Given the description of an element on the screen output the (x, y) to click on. 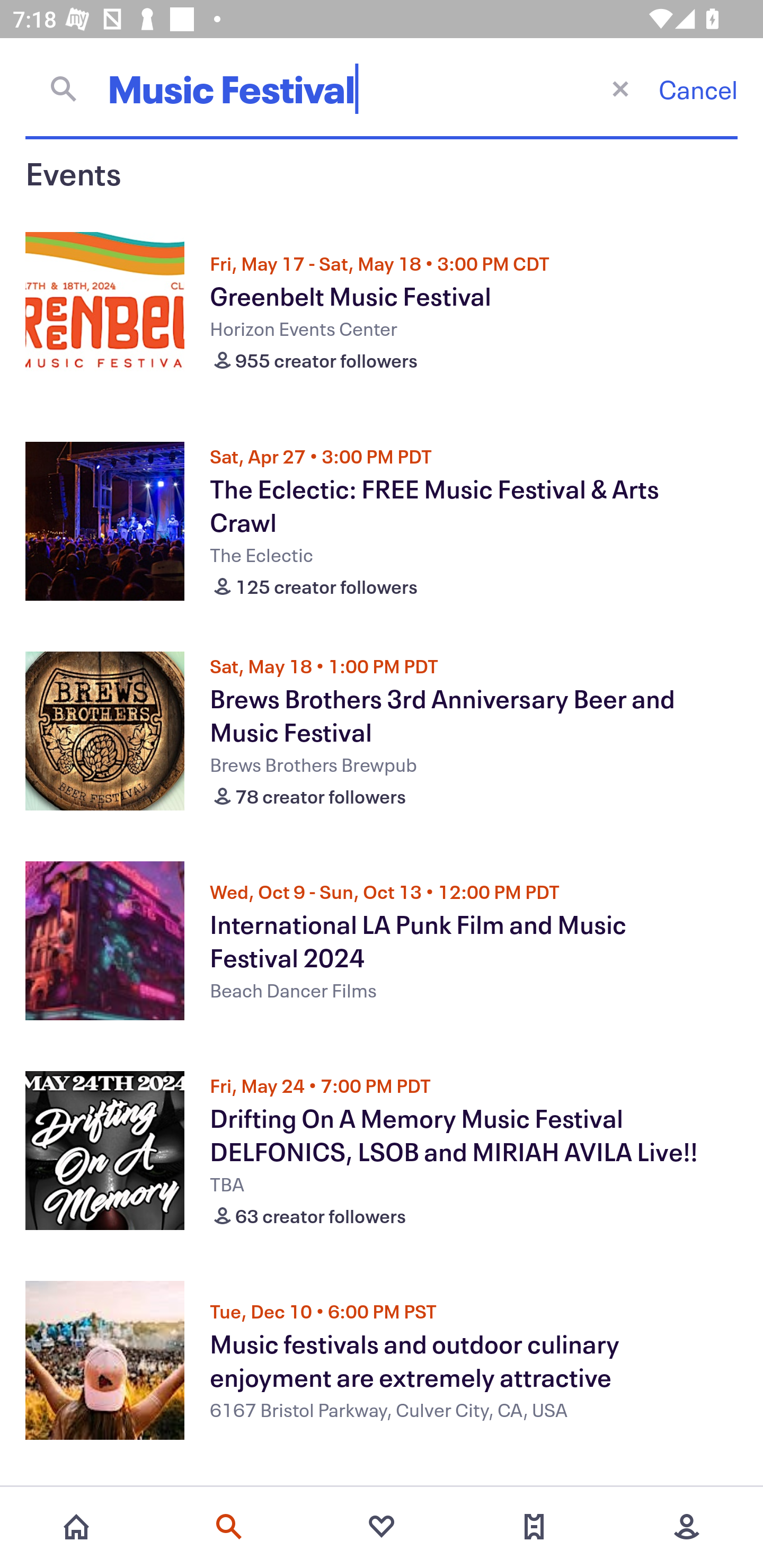
Music Festival Close current screen Cancel (381, 88)
Close current screen (620, 88)
Cancel (697, 89)
Home (76, 1526)
Search events (228, 1526)
Favorites (381, 1526)
Tickets (533, 1526)
More (686, 1526)
